Given the description of an element on the screen output the (x, y) to click on. 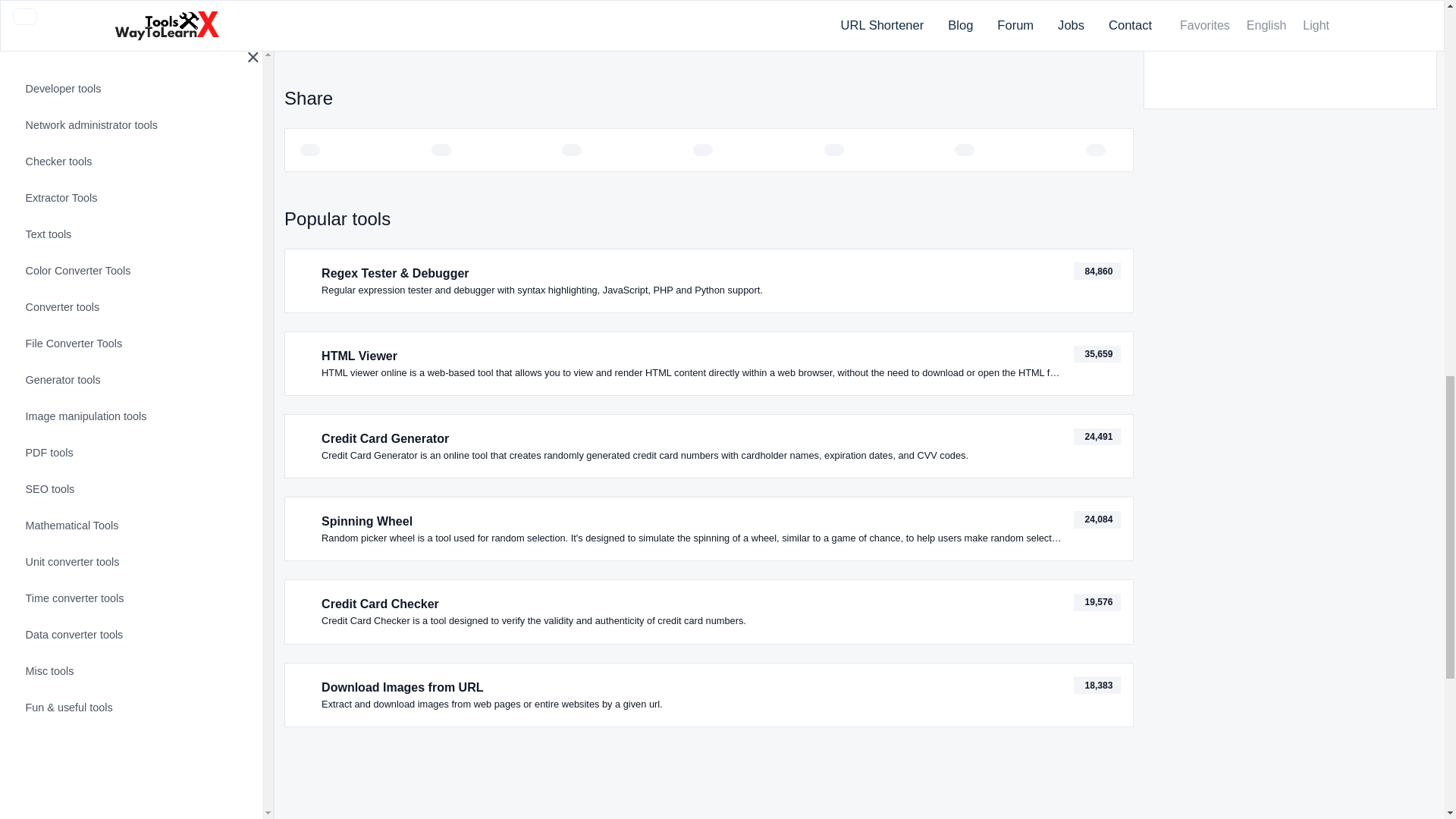
Total views (1097, 601)
Total views (1097, 684)
Total views (1097, 354)
Total views (1097, 271)
Total views (1097, 519)
Total views (1097, 436)
